Given the description of an element on the screen output the (x, y) to click on. 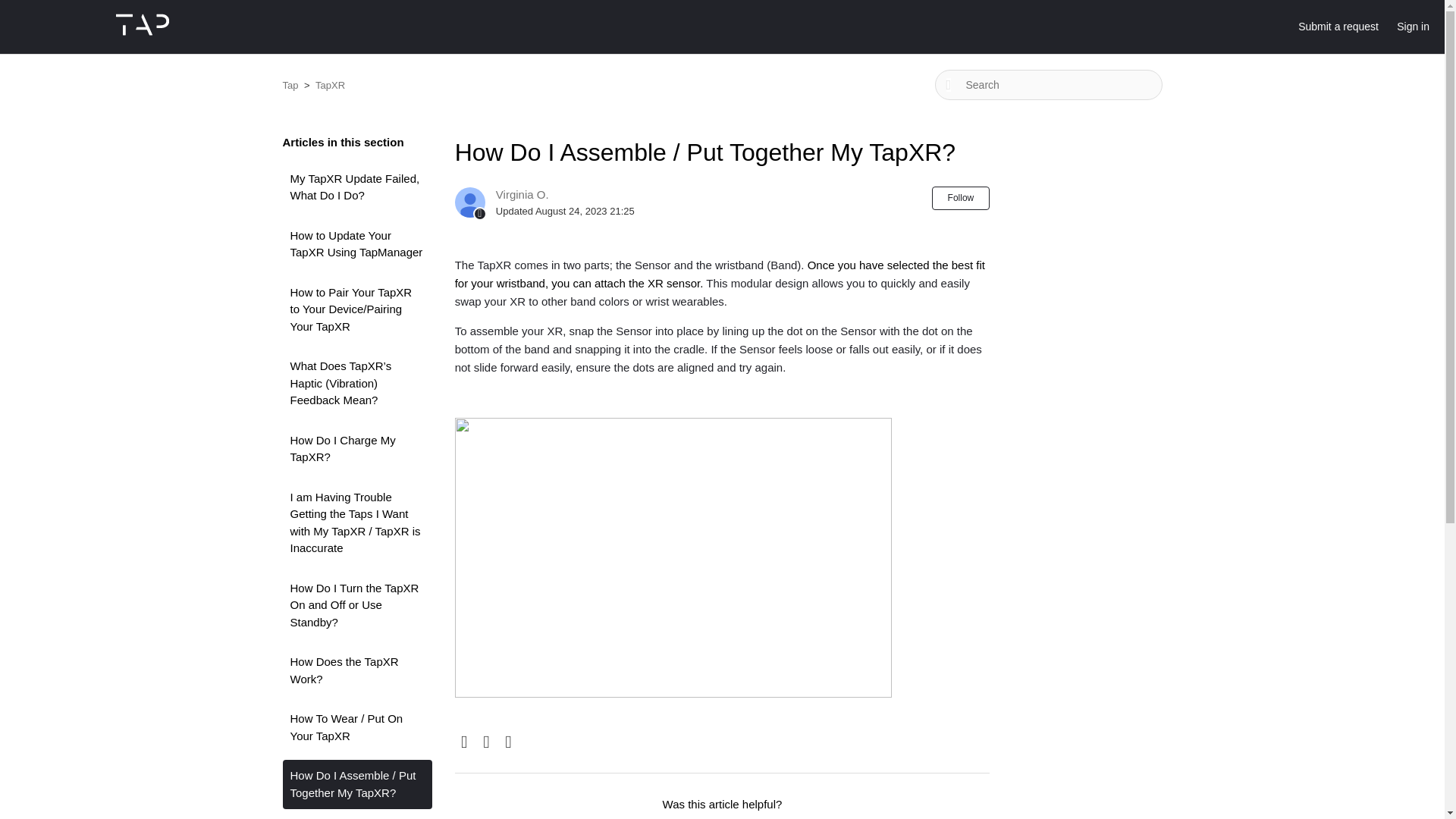
Submit a request (1345, 26)
TapXR (323, 84)
Tap (290, 84)
Tap (291, 84)
Facebook (464, 742)
Virginia O. (522, 194)
TapXR (330, 84)
Twitter (486, 742)
How Does the TapXR Work? (356, 670)
LinkedIn (508, 742)
How Do I Turn the TapXR On and Off or Use Standby? (356, 604)
Opens a sign-in dialog (960, 197)
See more (306, 818)
Follow (960, 197)
How Do I Charge My TapXR? (356, 449)
